Given the description of an element on the screen output the (x, y) to click on. 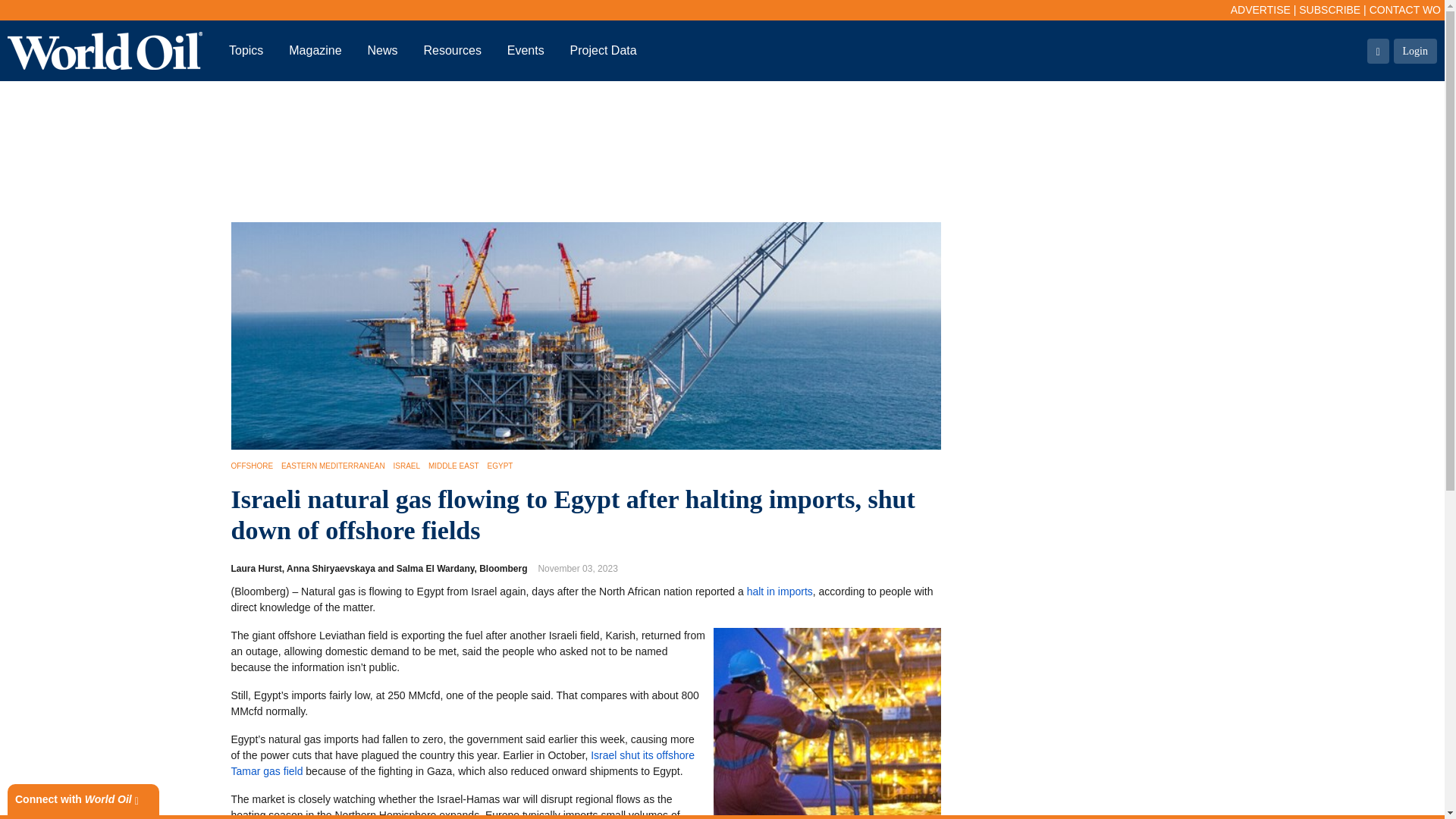
Topics (245, 50)
3rd party ad content (721, 151)
ADVERTISE (1260, 9)
CONTACT WO (1405, 9)
SUBSCRIBE (1328, 9)
